Given the description of an element on the screen output the (x, y) to click on. 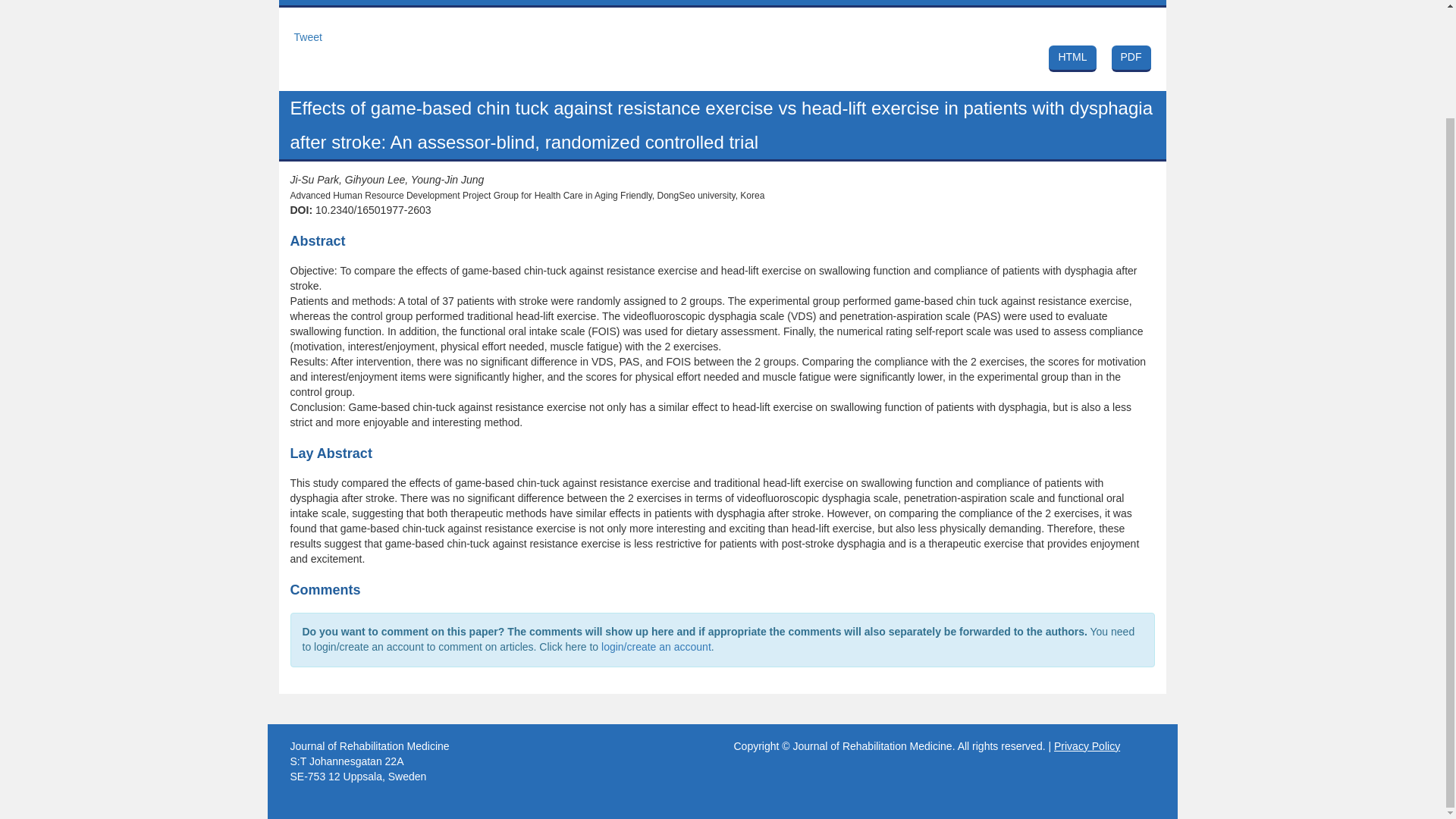
Tweet (307, 37)
HTML (1072, 58)
PDF (1131, 58)
Privacy Policy (1086, 746)
